Given the description of an element on the screen output the (x, y) to click on. 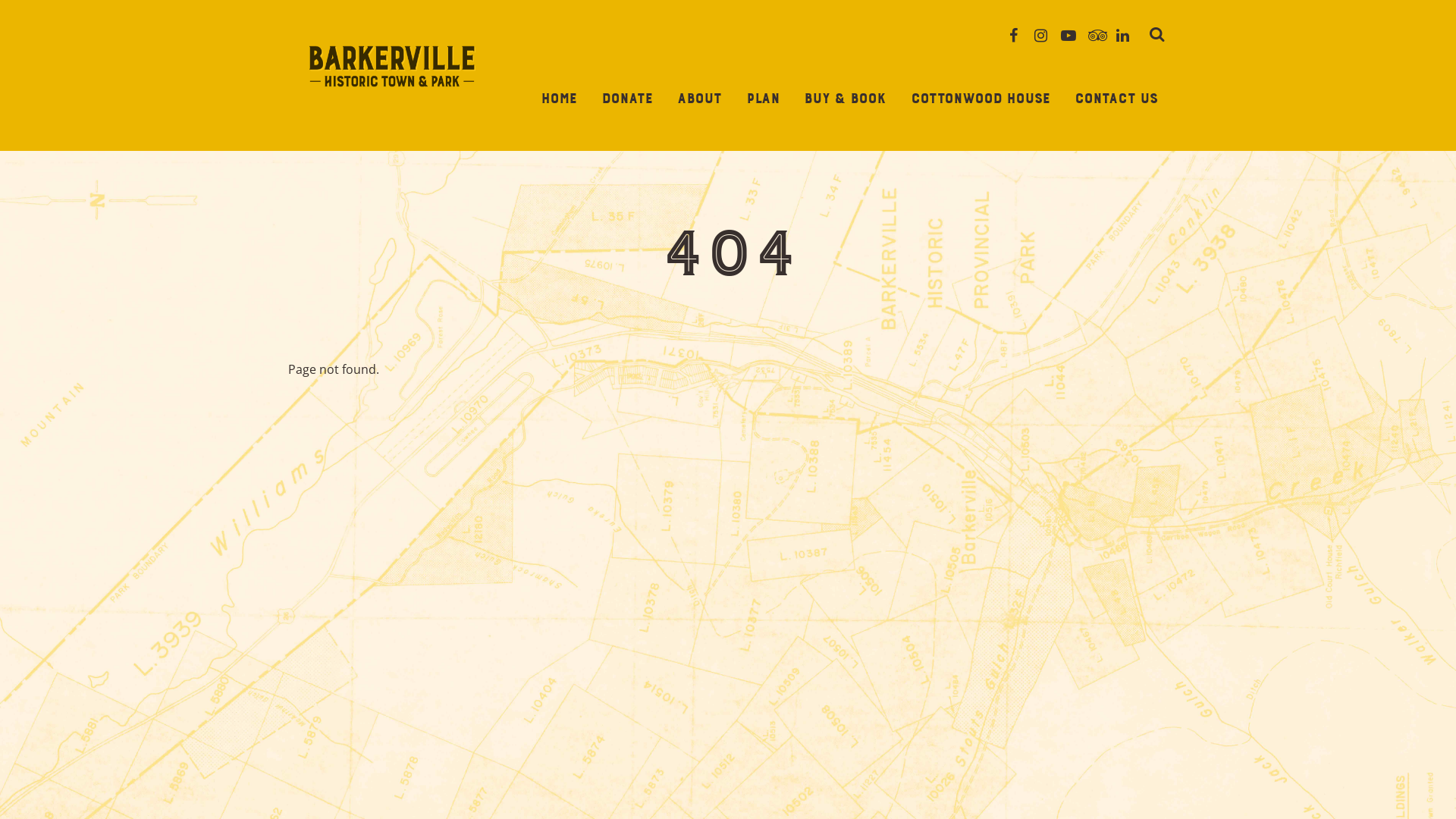
Search Element type: hover (1156, 35)
Barkerville Historic Town & Park Element type: hover (392, 97)
Barkerville Historic Town & Park Element type: hover (392, 65)
ABOUT Element type: text (698, 100)
PLAN Element type: text (762, 100)
DONATE Element type: text (625, 100)
CONTACT US Element type: text (1115, 100)
HOME Element type: text (558, 100)
COTTONWOOD HOUSE Element type: text (979, 100)
BUY & BOOK Element type: text (845, 100)
